Given the description of an element on the screen output the (x, y) to click on. 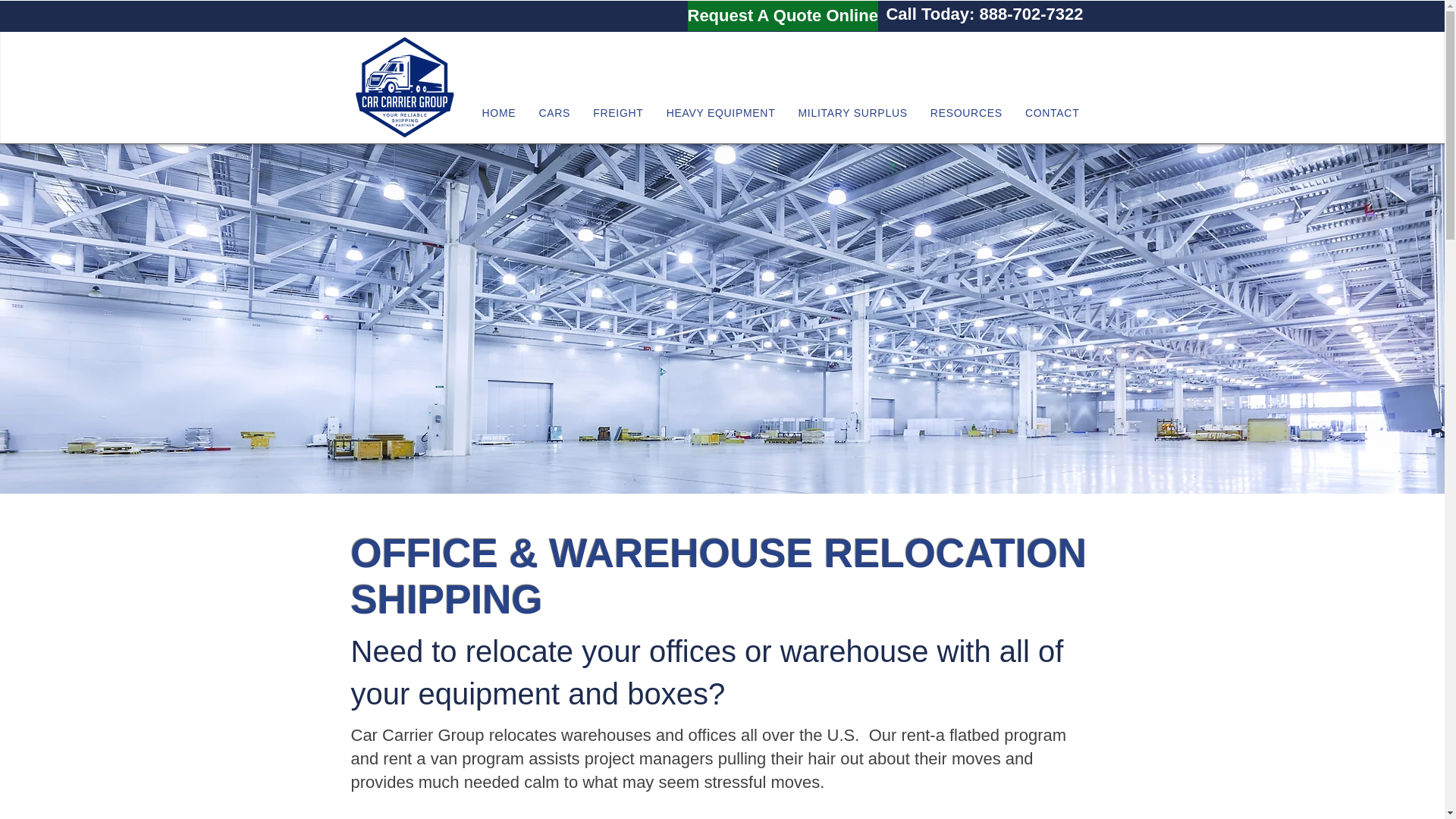
MILITARY SURPLUS (852, 112)
Request A Quote Online (782, 15)
CARS (553, 112)
HOME (498, 112)
Call Today: 888-702-7322 (984, 13)
HEAVY EQUIPMENT (721, 112)
CONTACT (1051, 112)
FREIGHT (617, 112)
